Given the description of an element on the screen output the (x, y) to click on. 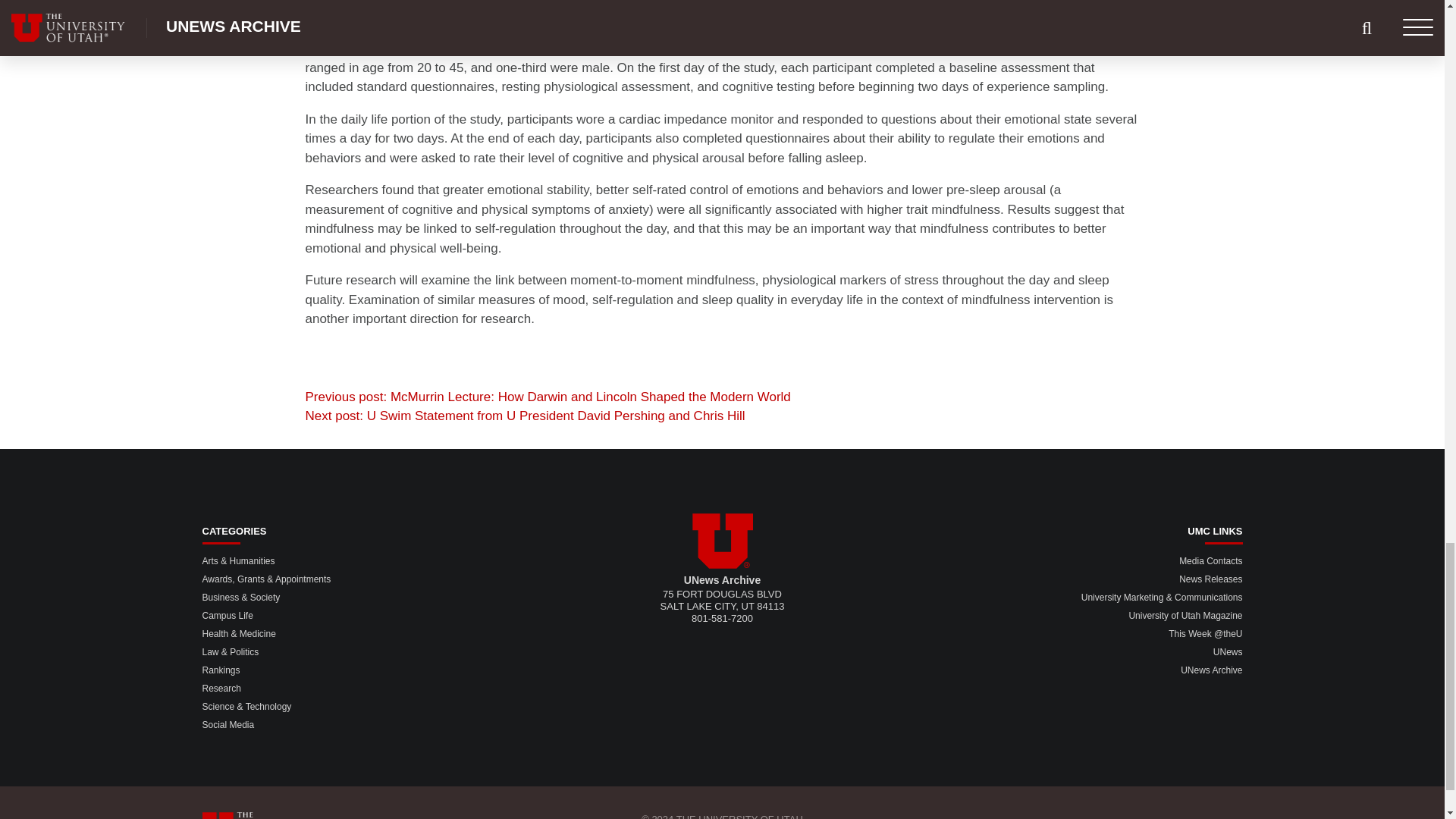
Rankings (221, 670)
Campus Life (226, 615)
Research (221, 688)
Media Contacts (1210, 561)
University of Utah (721, 540)
UNews (1227, 652)
UNews Archive (1210, 670)
University of Utah Magazine (1184, 615)
Social Media (227, 724)
News Releases (1210, 579)
